Given the description of an element on the screen output the (x, y) to click on. 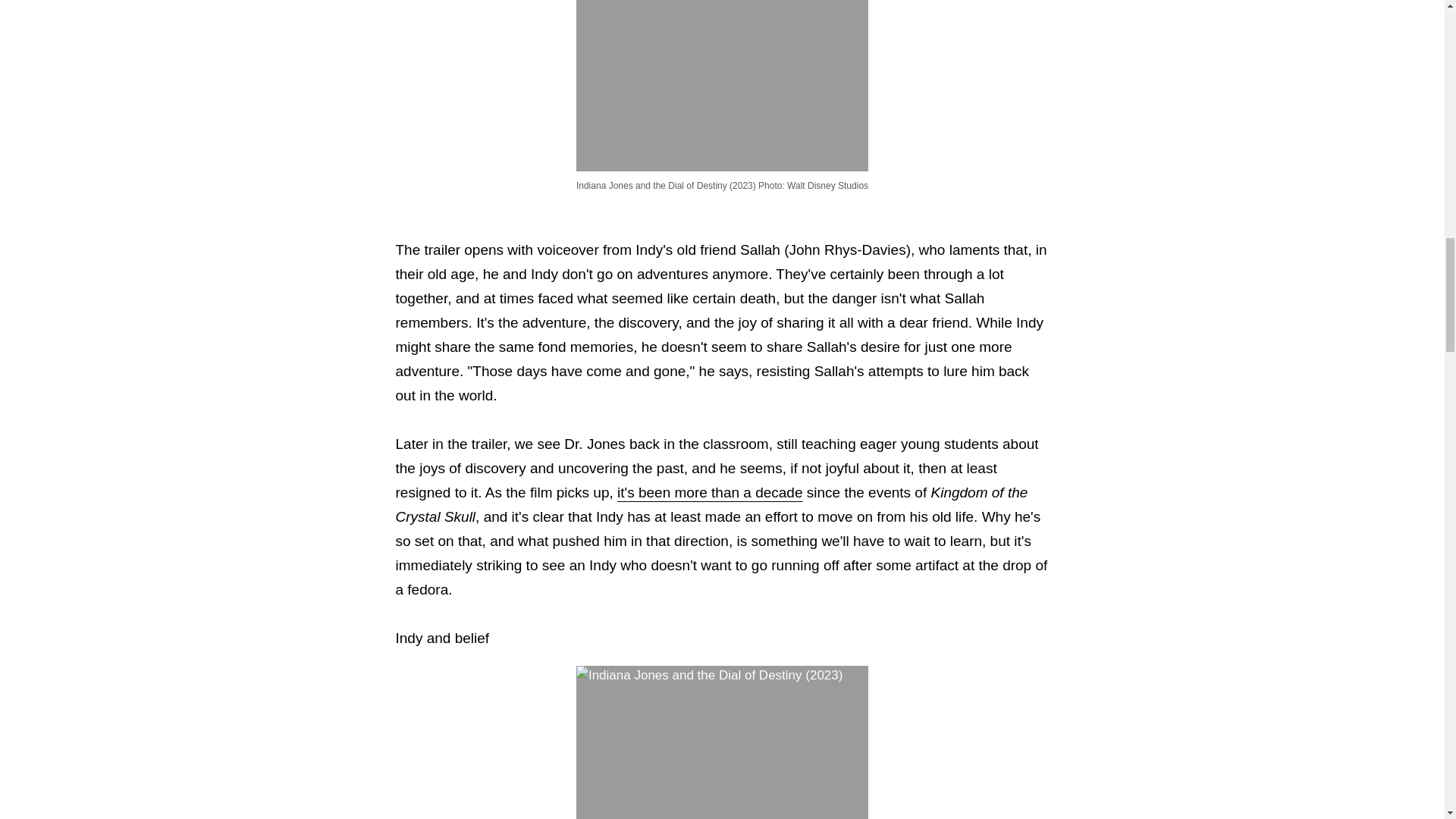
it's been more than a decade (709, 492)
